Given the description of an element on the screen output the (x, y) to click on. 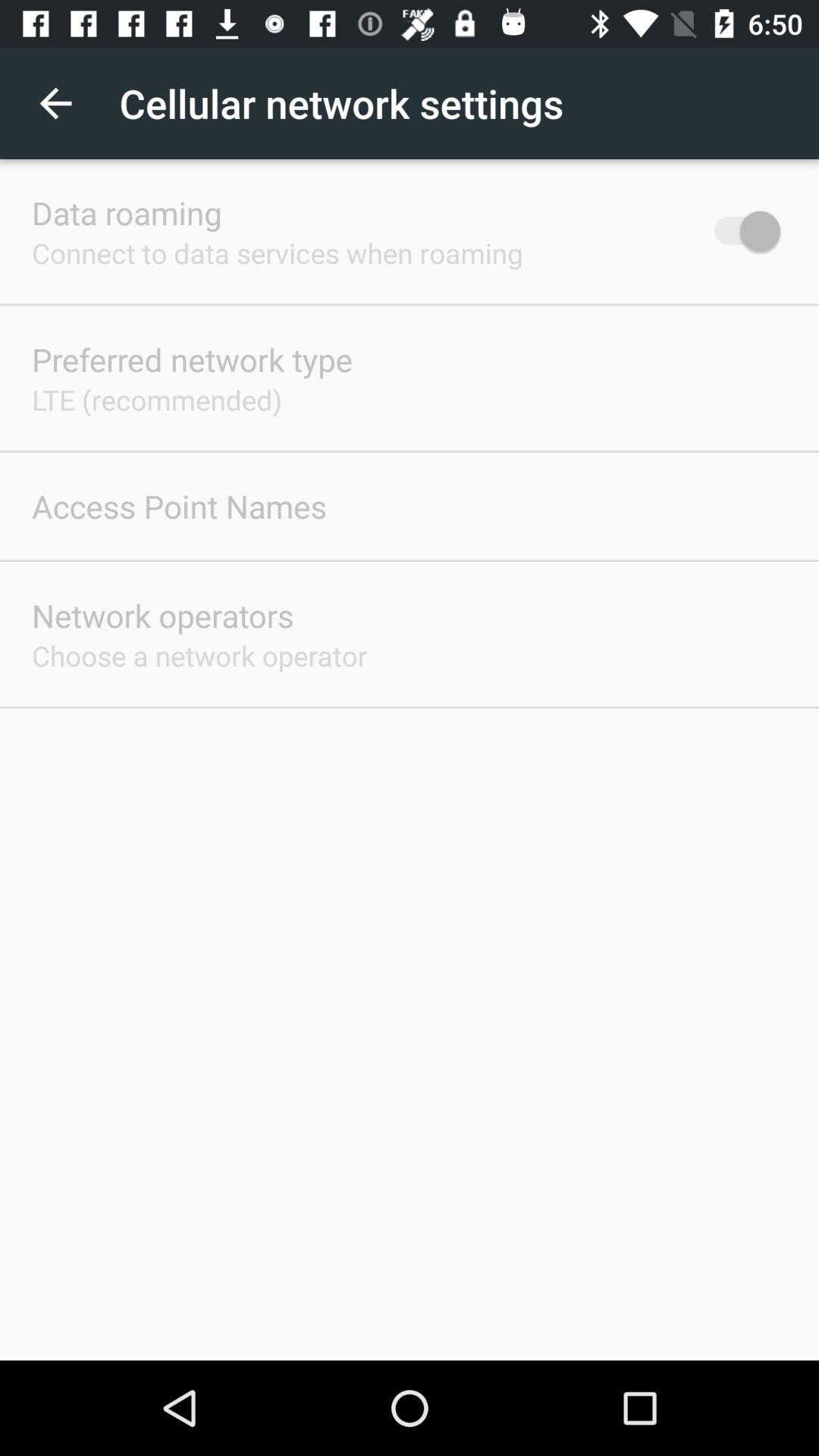
click connect to data icon (276, 252)
